Given the description of an element on the screen output the (x, y) to click on. 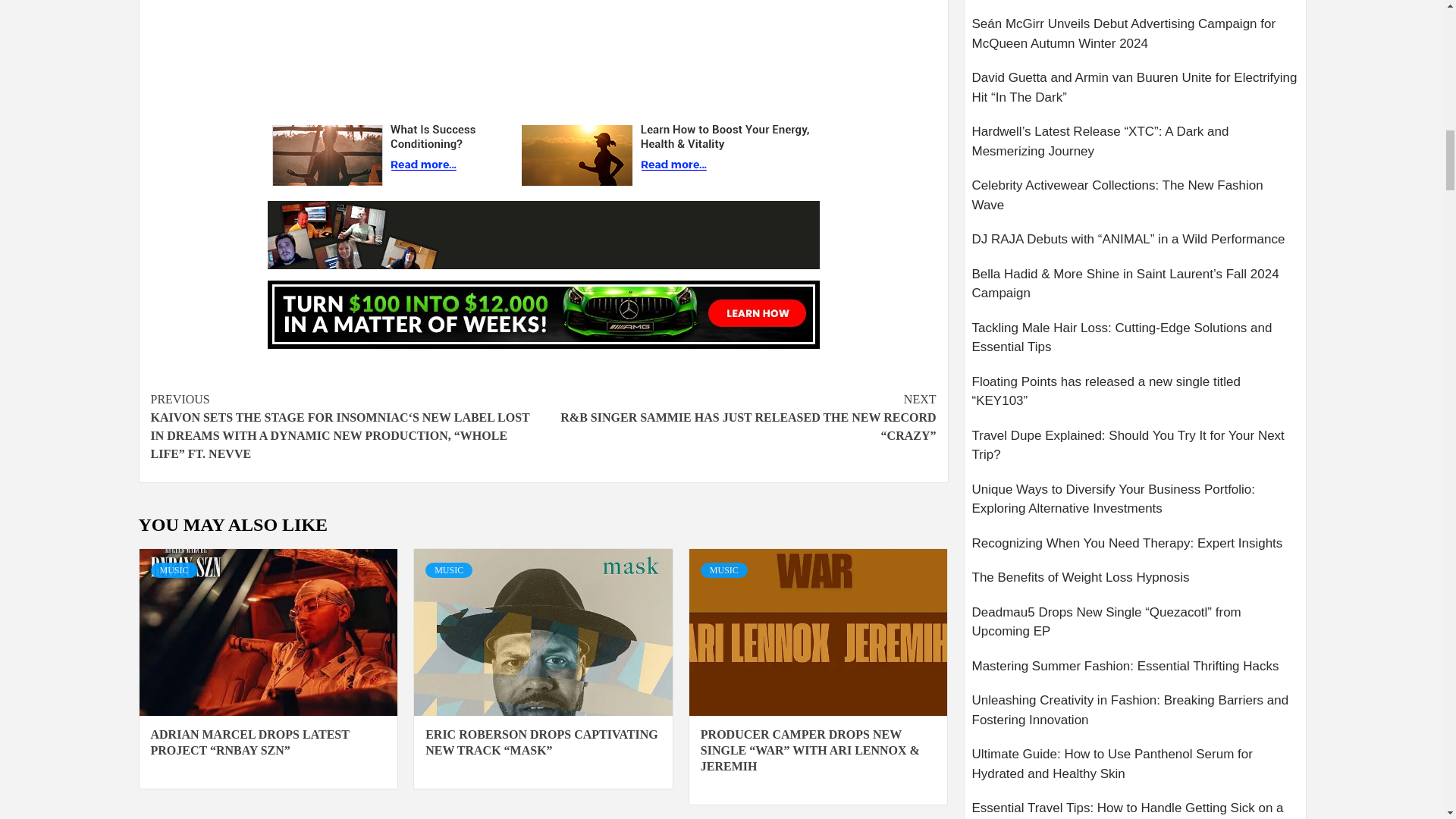
MUSIC (448, 570)
MUSIC (172, 570)
